Given the description of an element on the screen output the (x, y) to click on. 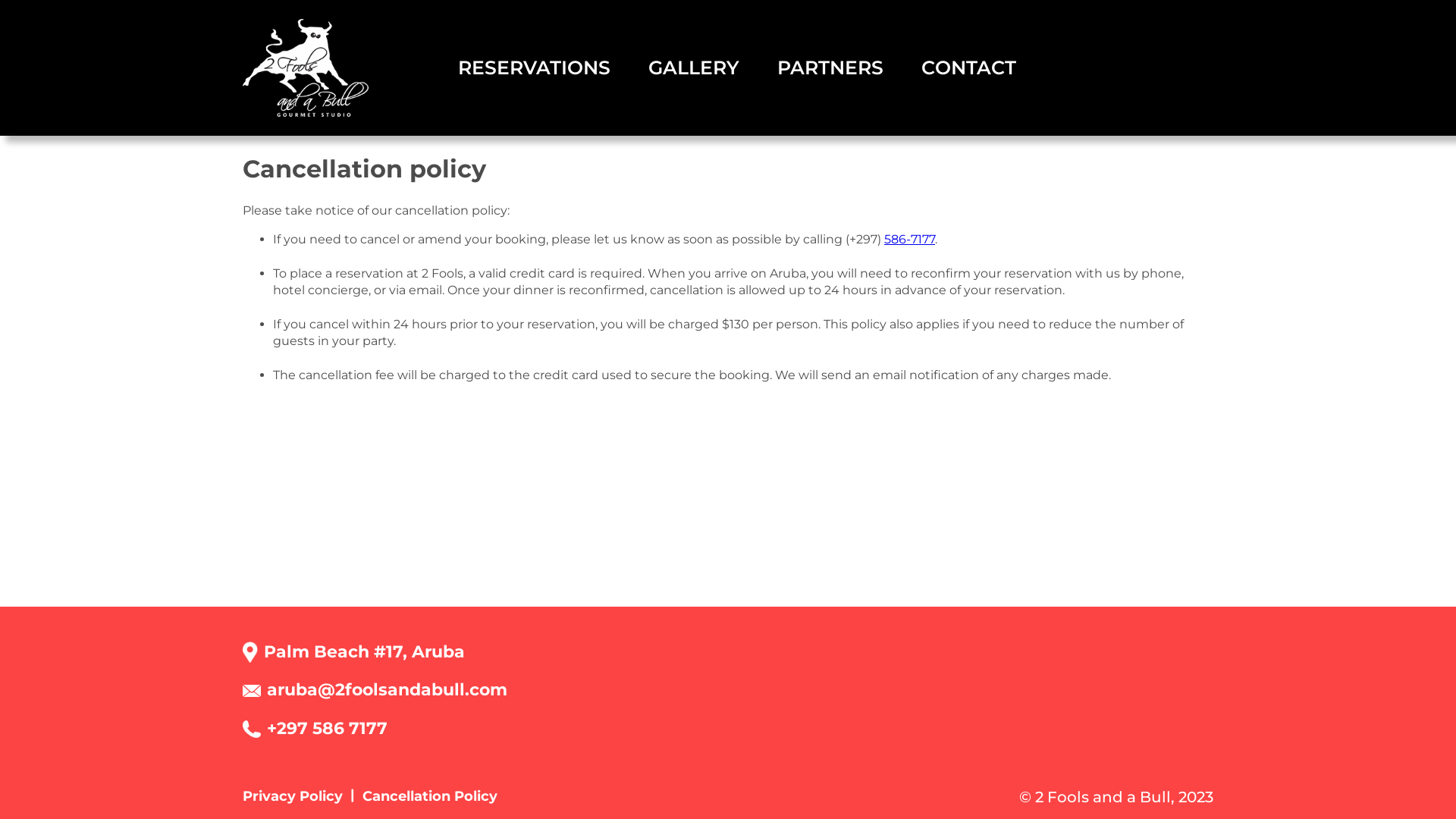
2 Fools And A Bull Element type: hover (305, 67)
GALLERY Element type: text (693, 67)
aruba@2foolsandabull.com Element type: text (374, 690)
RESERVATIONS Element type: text (534, 67)
586-7177 Element type: text (909, 239)
Palm Beach #17, Aruba Element type: text (363, 652)
+297 586 7177 Element type: text (314, 728)
Privacy Policy Element type: text (302, 796)
PARTNERS Element type: text (830, 67)
CONTACT Element type: text (968, 67)
Cancellation Policy Element type: text (429, 796)
